Given the description of an element on the screen output the (x, y) to click on. 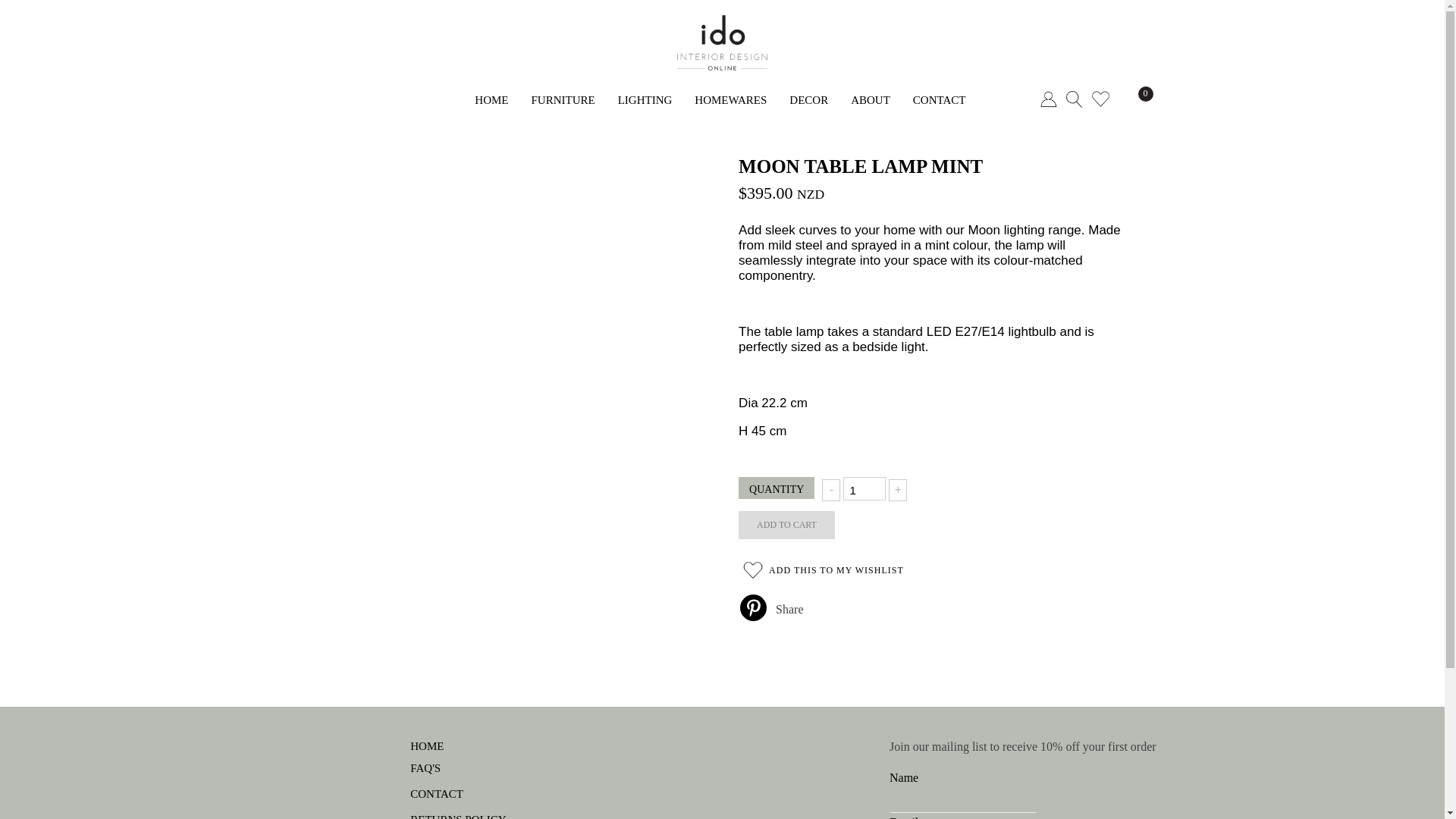
HOMEWARES (729, 99)
FURNITURE (563, 99)
1 (864, 488)
HOME (491, 99)
DECOR (808, 99)
LIGHTING (645, 99)
Pinterest (753, 607)
